Given the description of an element on the screen output the (x, y) to click on. 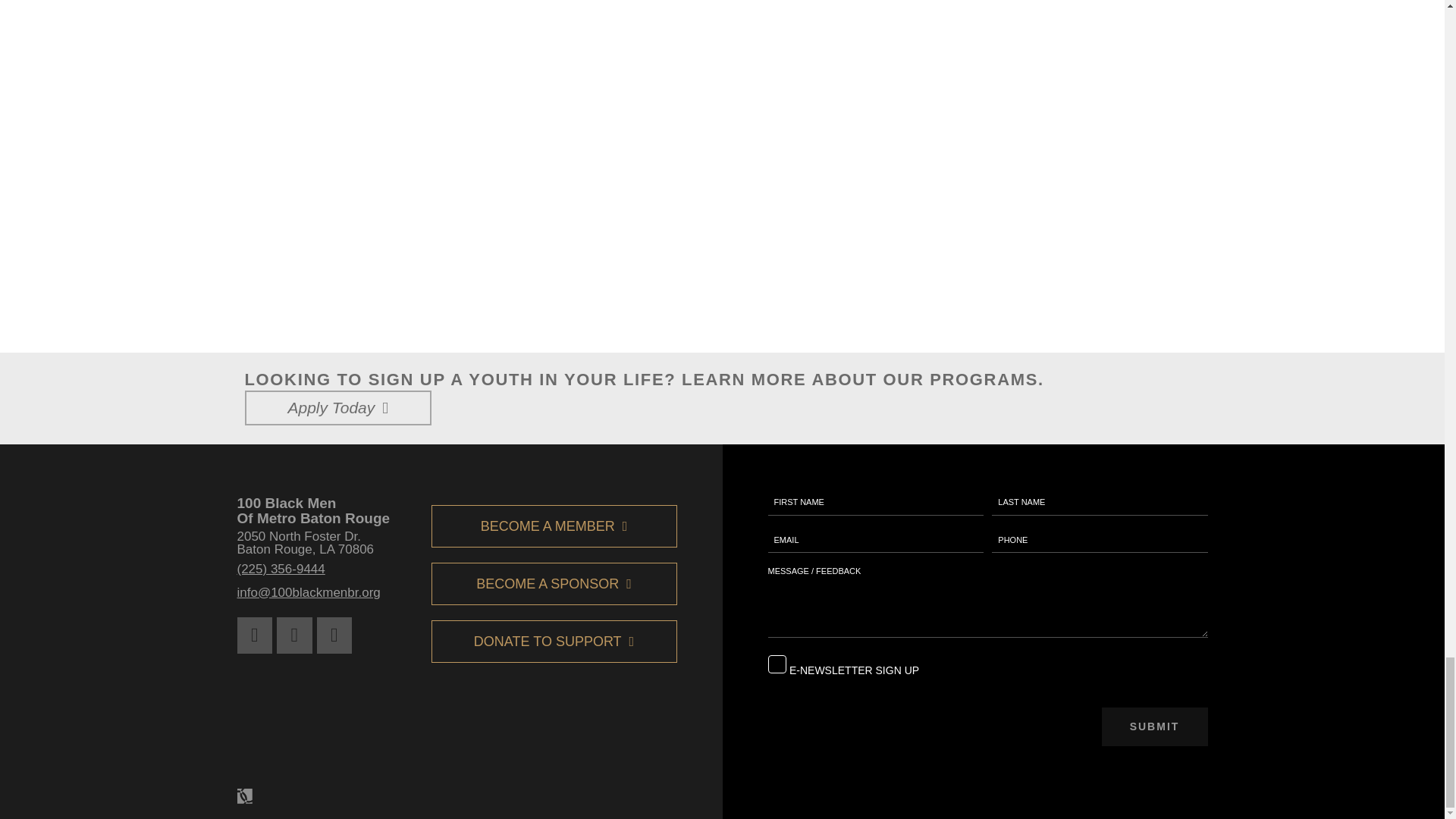
1 (776, 664)
Submit (1153, 726)
